Given the description of an element on the screen output the (x, y) to click on. 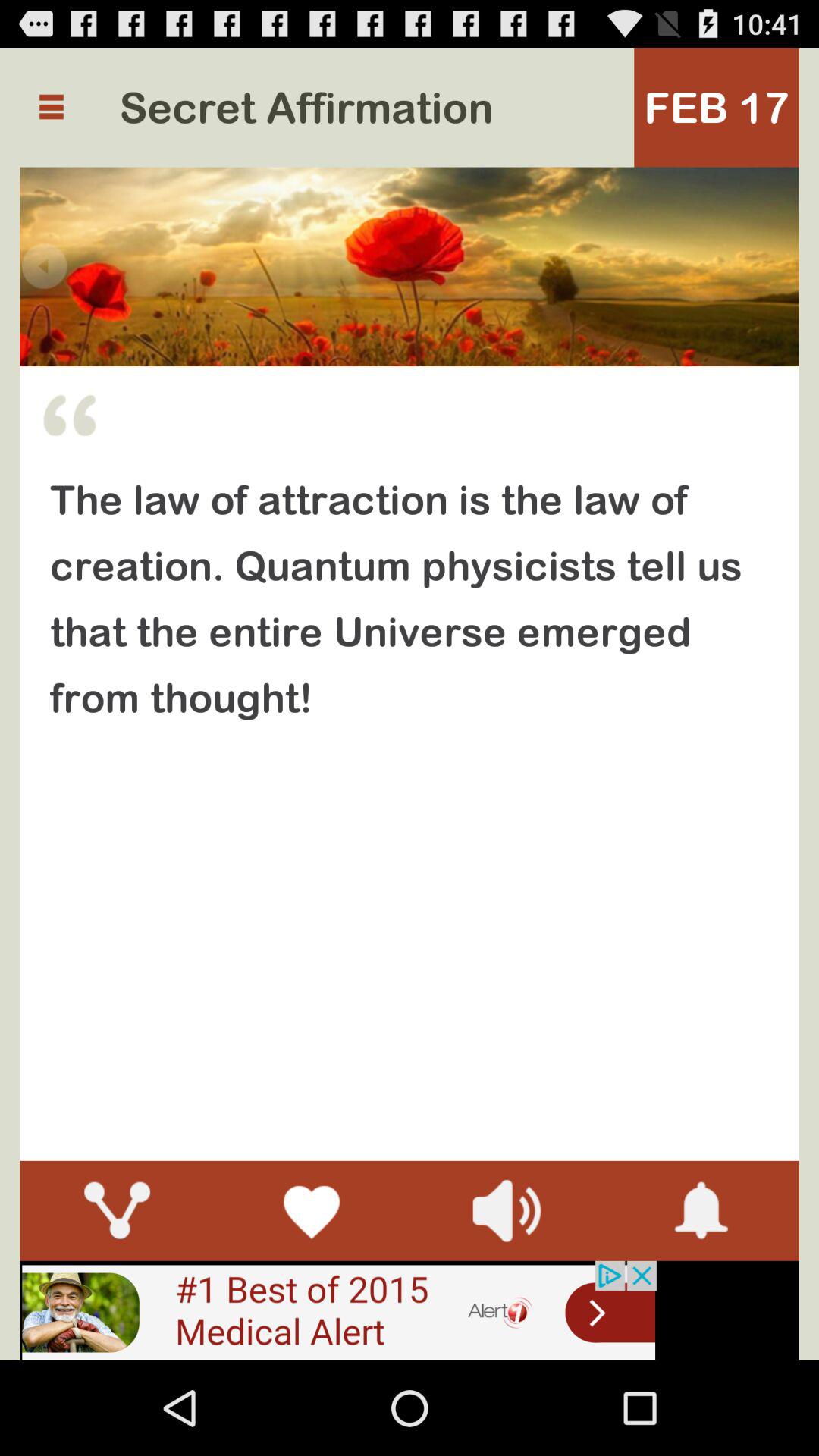
know bout the advertisement (337, 1310)
